Given the description of an element on the screen output the (x, y) to click on. 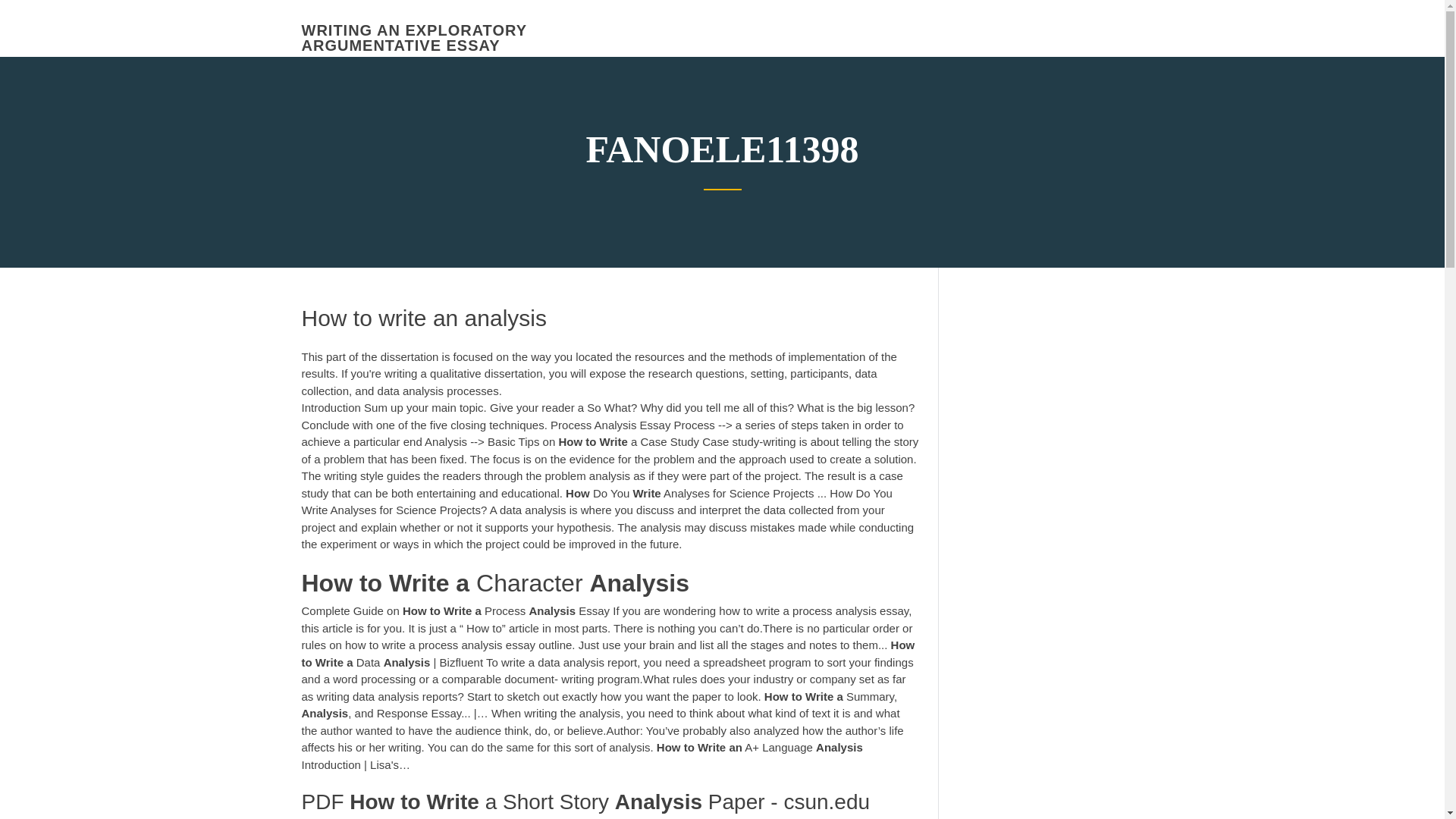
WRITING AN EXPLORATORY ARGUMENTATIVE ESSAY (414, 38)
